Given the description of an element on the screen output the (x, y) to click on. 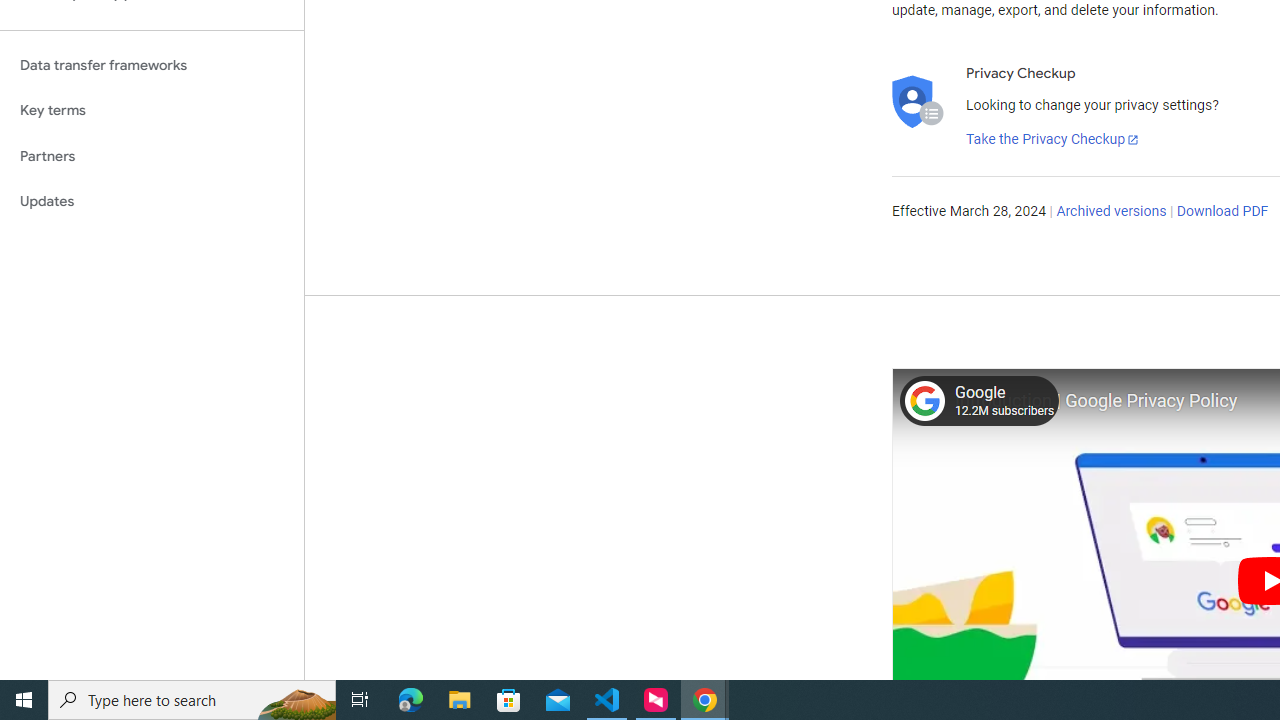
Archived versions (1111, 212)
Data transfer frameworks (152, 65)
Take the Privacy Checkup (1053, 140)
Download PDF (1222, 212)
Photo image of Google (924, 400)
Key terms (152, 110)
Updates (152, 201)
Partners (152, 156)
